Given the description of an element on the screen output the (x, y) to click on. 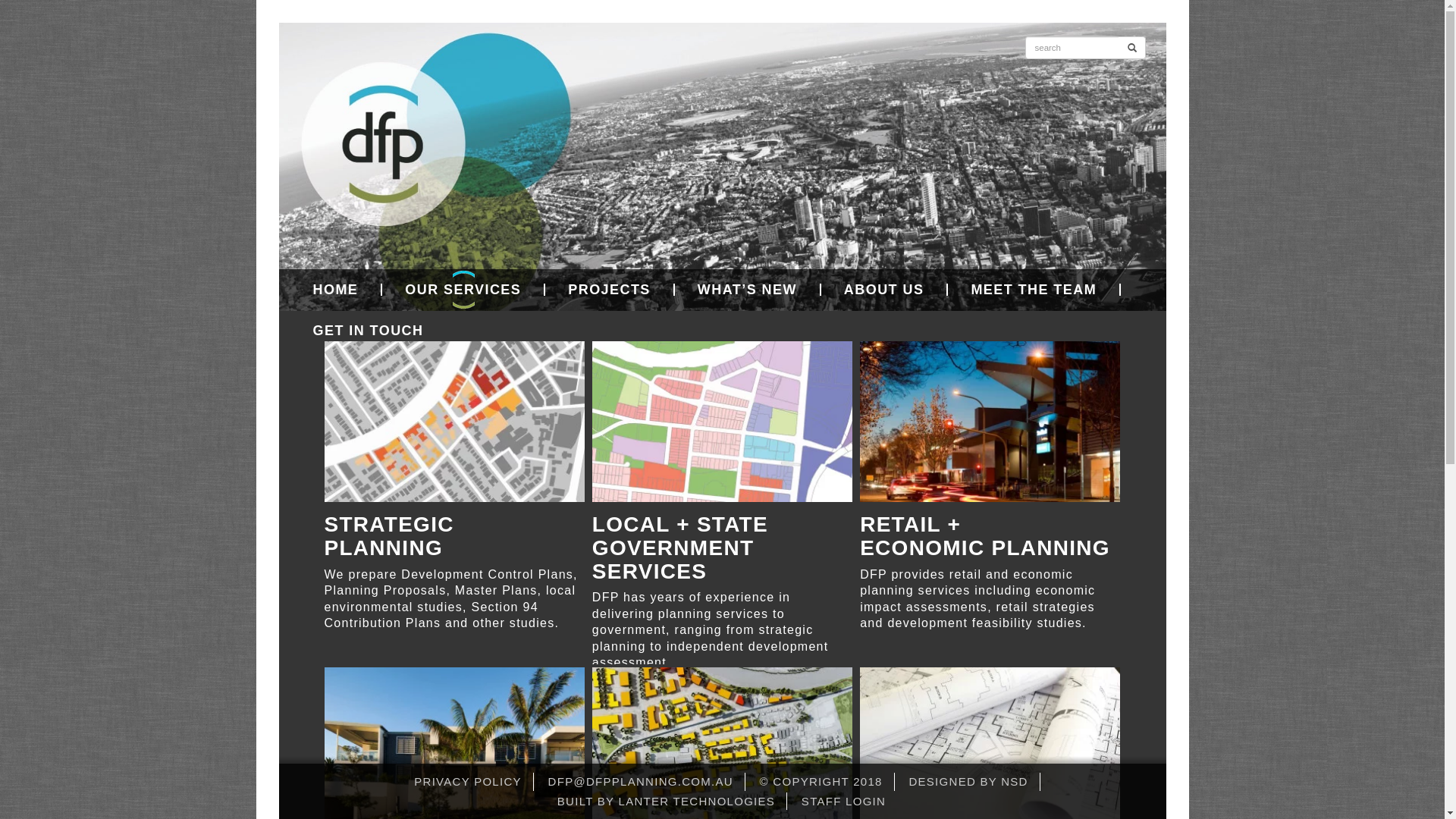
DFP@DFPPLANNING.COM.AU Element type: text (640, 781)
DESIGNED BY NSD Element type: text (967, 781)
STAFF LOGIN Element type: text (843, 800)
ABOUT US Element type: text (884, 289)
RETAIL +
ECONOMIC PLANNING Element type: text (989, 450)
PRIVACY POLICY Element type: text (467, 781)
BUILT BY LANTER TECHNOLOGIES Element type: text (665, 800)
PROJECTS Element type: text (609, 289)
LOCAL + STATE
GOVERNMENT SERVICES Element type: text (722, 462)
OUR SERVICES Element type: text (463, 289)
MEET THE TEAM Element type: text (1033, 289)
STRATEGIC
PLANNING Element type: text (454, 450)
HOME Element type: text (335, 289)
GET IN TOUCH Element type: text (356, 330)
